Given the description of an element on the screen output the (x, y) to click on. 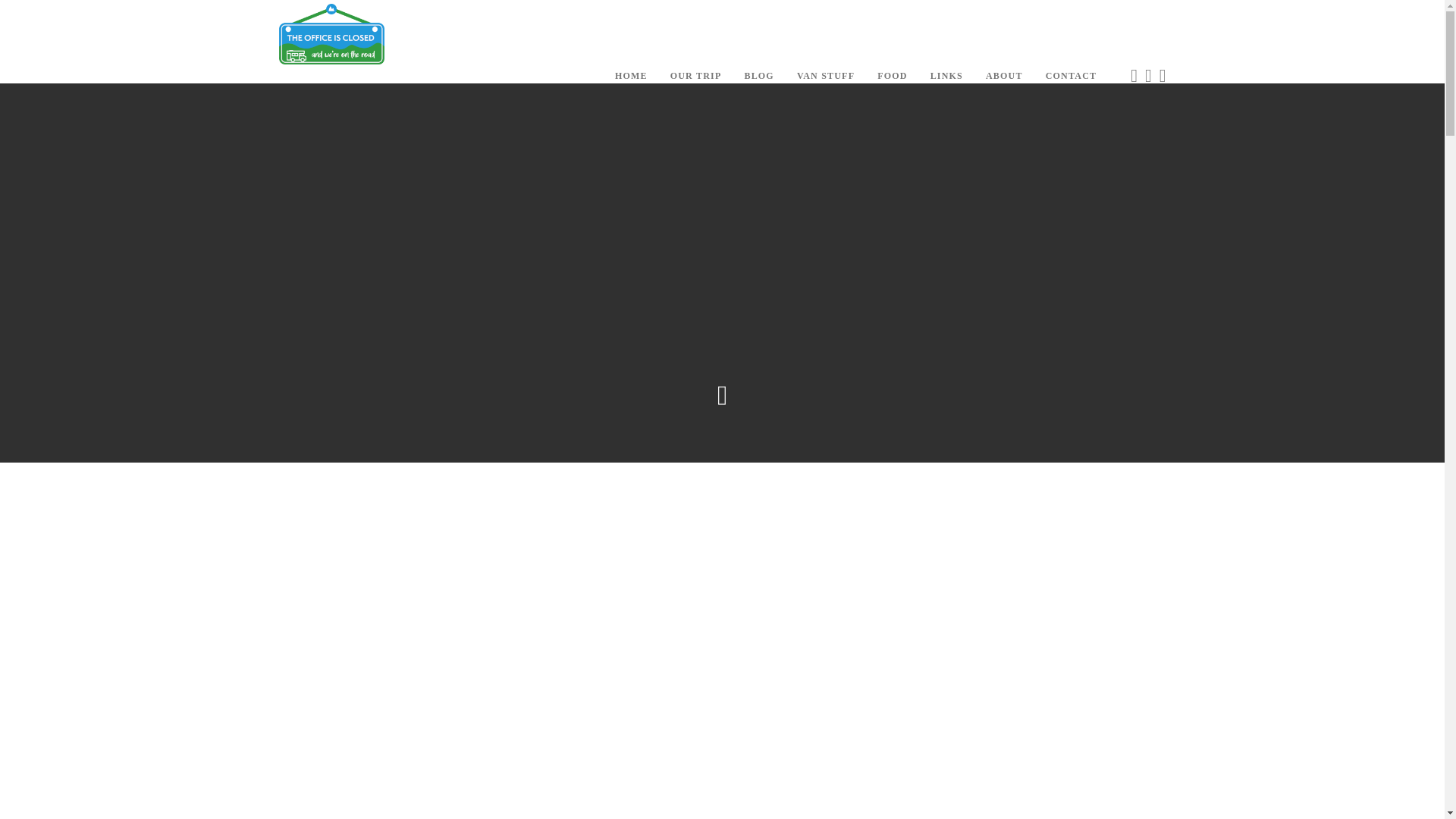
HOME (630, 75)
VAN STUFF (825, 75)
CONTACT (1071, 75)
The Office Is Closed (332, 33)
FOOD (892, 75)
LINKS (946, 75)
ABOUT (1004, 75)
BLOG (758, 75)
OUR TRIP (695, 75)
